Given the description of an element on the screen output the (x, y) to click on. 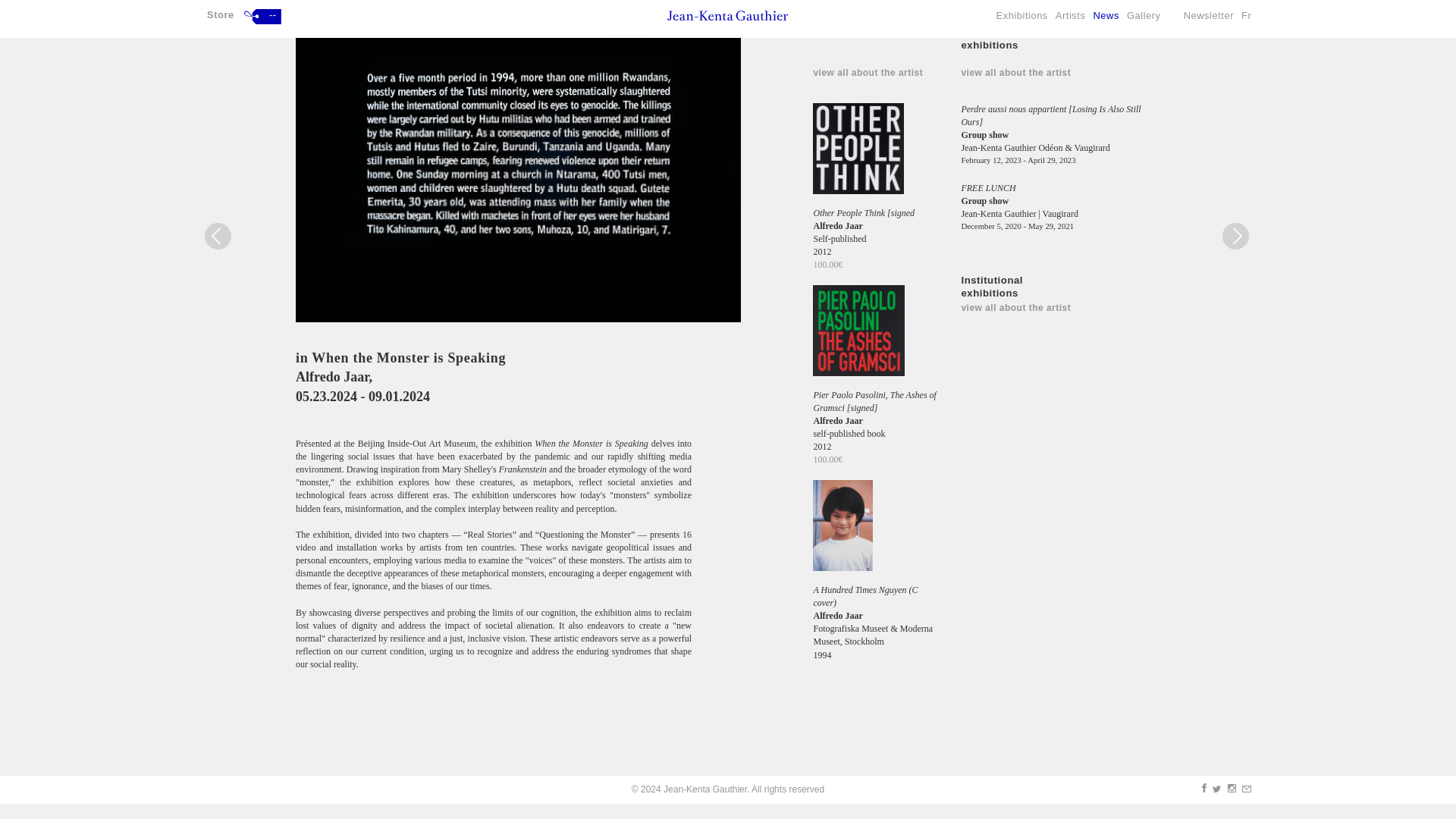
Store (220, 3)
Gallery (1147, 4)
Fr (1250, 4)
Artists (1074, 4)
News (1109, 4)
Gallery (1147, 4)
Exhibitions (1025, 4)
Artists (1074, 4)
-- (262, 2)
Exhibitions (1025, 4)
